Given the description of an element on the screen output the (x, y) to click on. 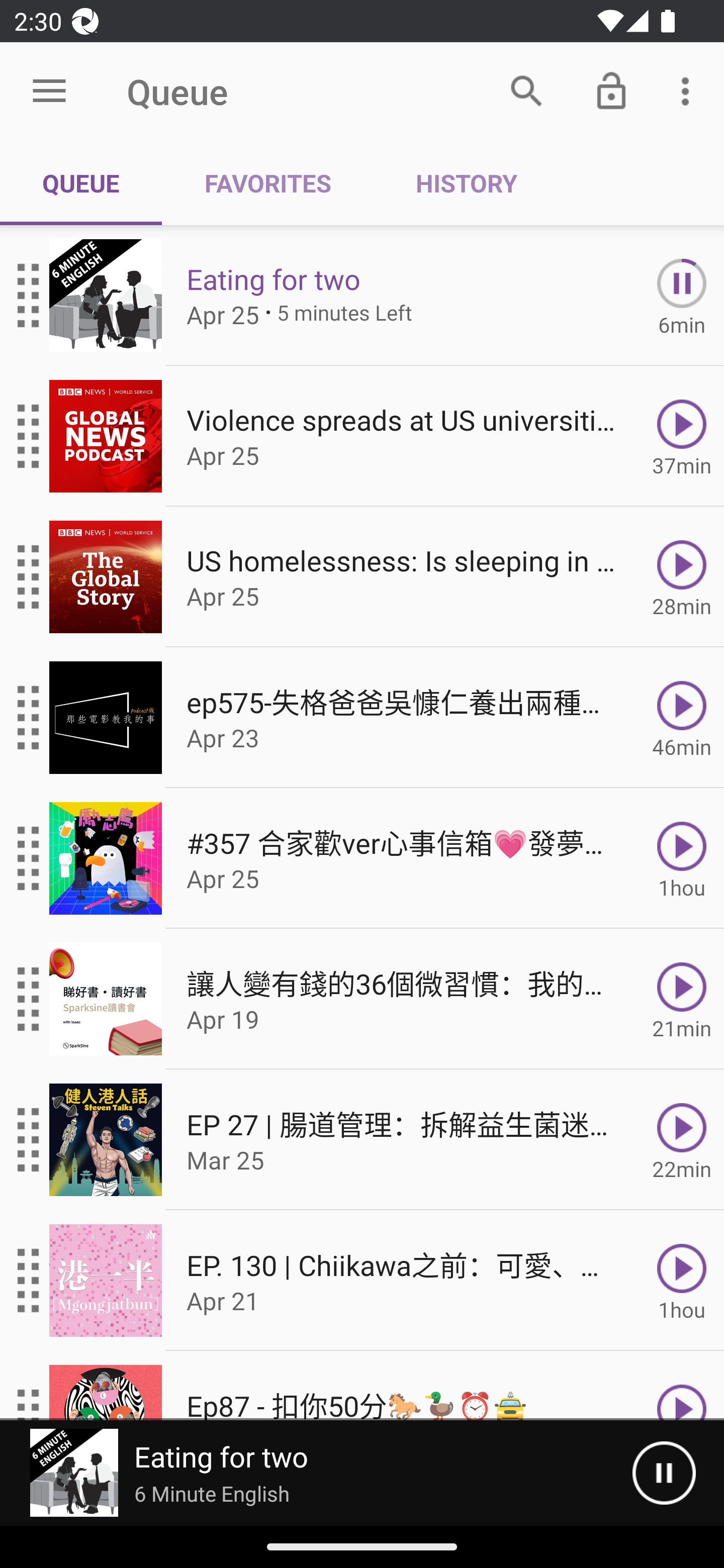
Open menu (49, 91)
Search (526, 90)
Lock Queue (611, 90)
More options (688, 90)
QUEUE (81, 183)
FAVORITES (267, 183)
HISTORY (465, 183)
Play 6min (681, 295)
Play 37min (681, 435)
Play 28min (681, 576)
Play 46min (681, 717)
Play 1hou (681, 858)
Play 21min (681, 998)
Play 22min (681, 1139)
Play 1hou (681, 1280)
Play (681, 1385)
Picture Eating for two 6 Minute English (316, 1472)
Pause (663, 1472)
